Given the description of an element on the screen output the (x, y) to click on. 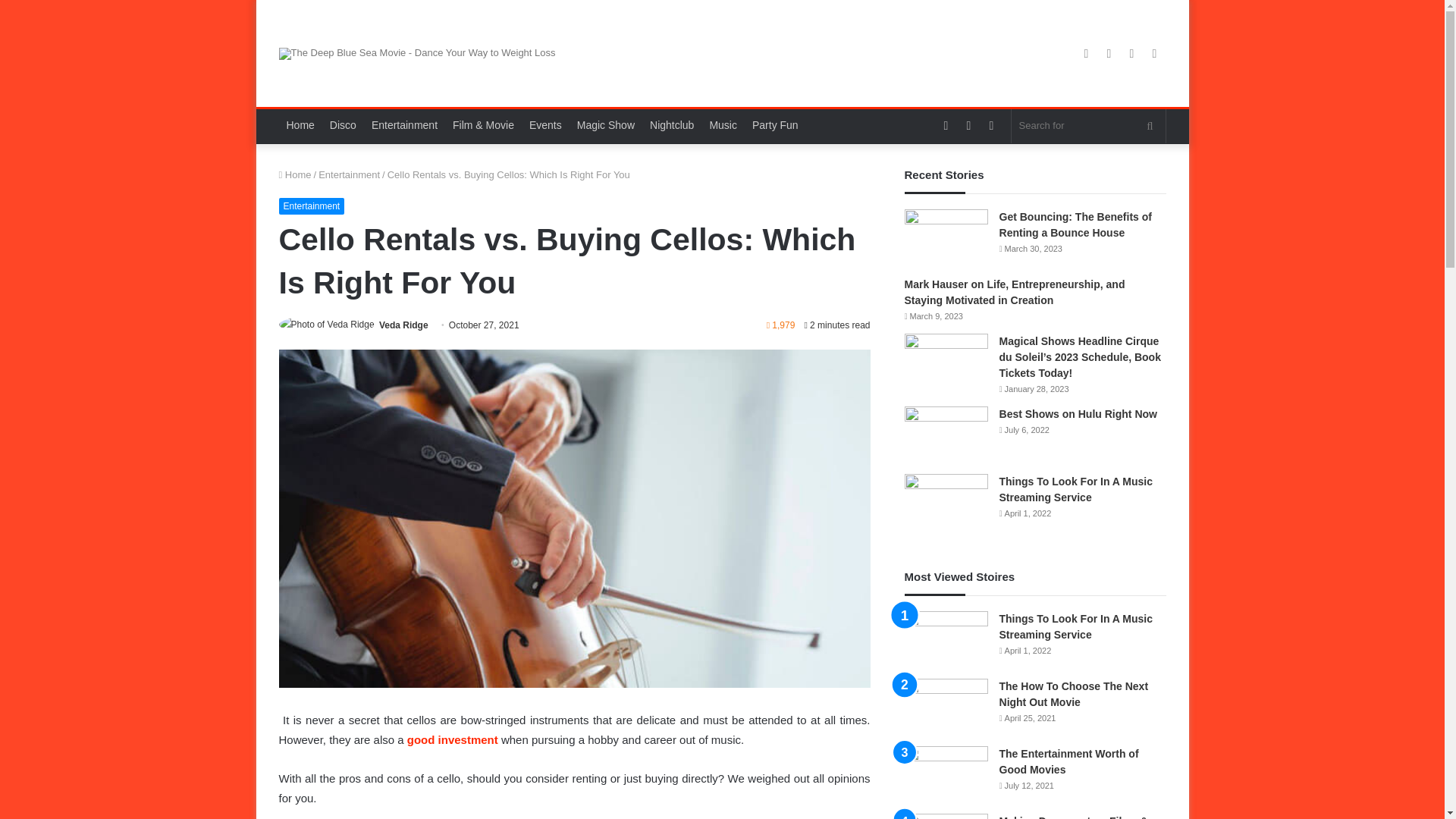
Entertainment (312, 205)
Party Fun (775, 125)
Home (295, 173)
Magic Show (605, 125)
Search for (1088, 125)
good investment (452, 739)
The Deep Blue Sea Movie - Dance Your Way to Weight Loss (417, 53)
Veda Ridge (403, 325)
Disco (342, 125)
Nightclub (671, 125)
